Given the description of an element on the screen output the (x, y) to click on. 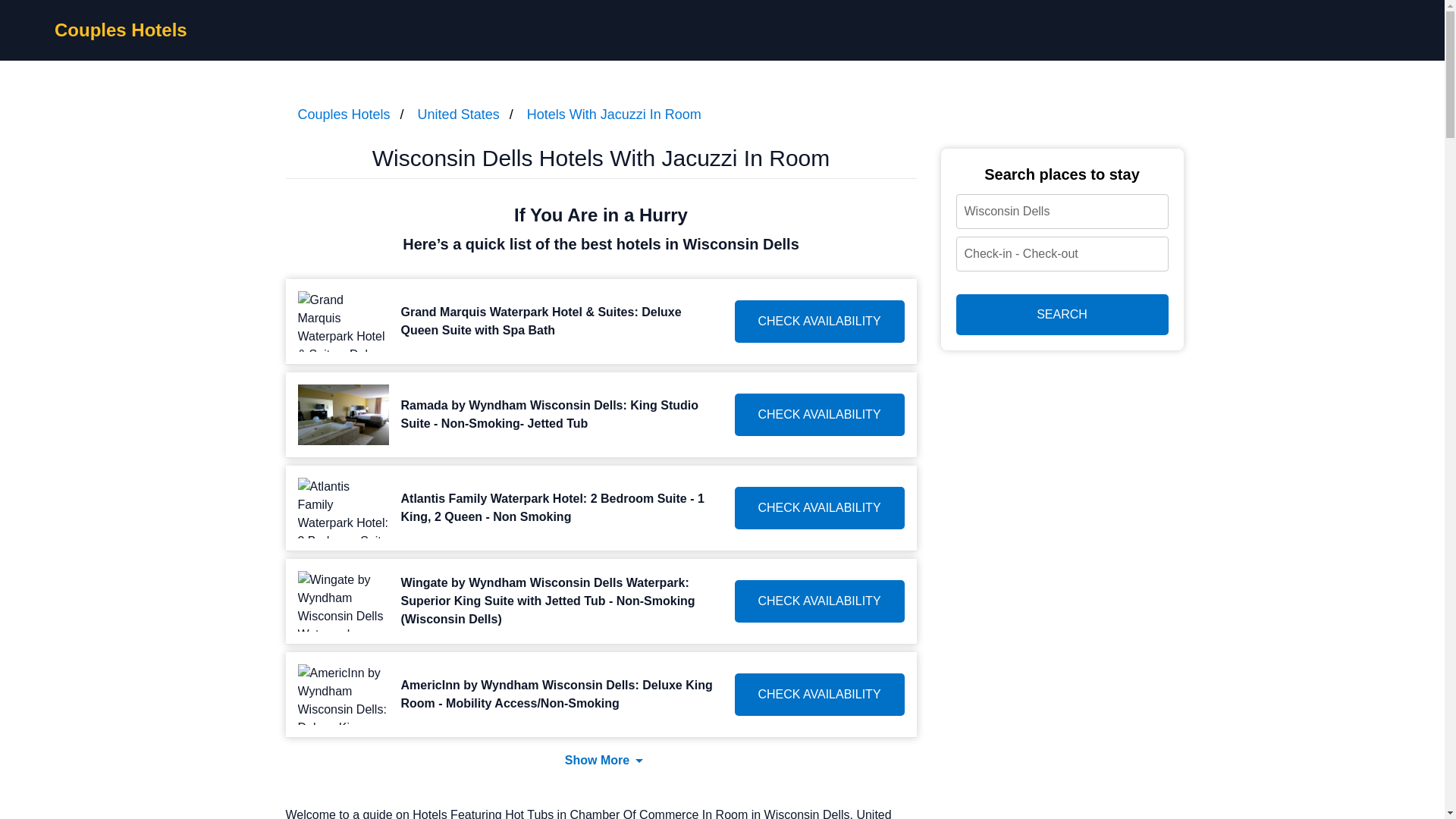
Couples Hotels (343, 114)
Hotels With Jacuzzi In Room (614, 114)
Couples Hotels (121, 29)
SEARCH (1061, 314)
United States (458, 114)
